Given the description of an element on the screen output the (x, y) to click on. 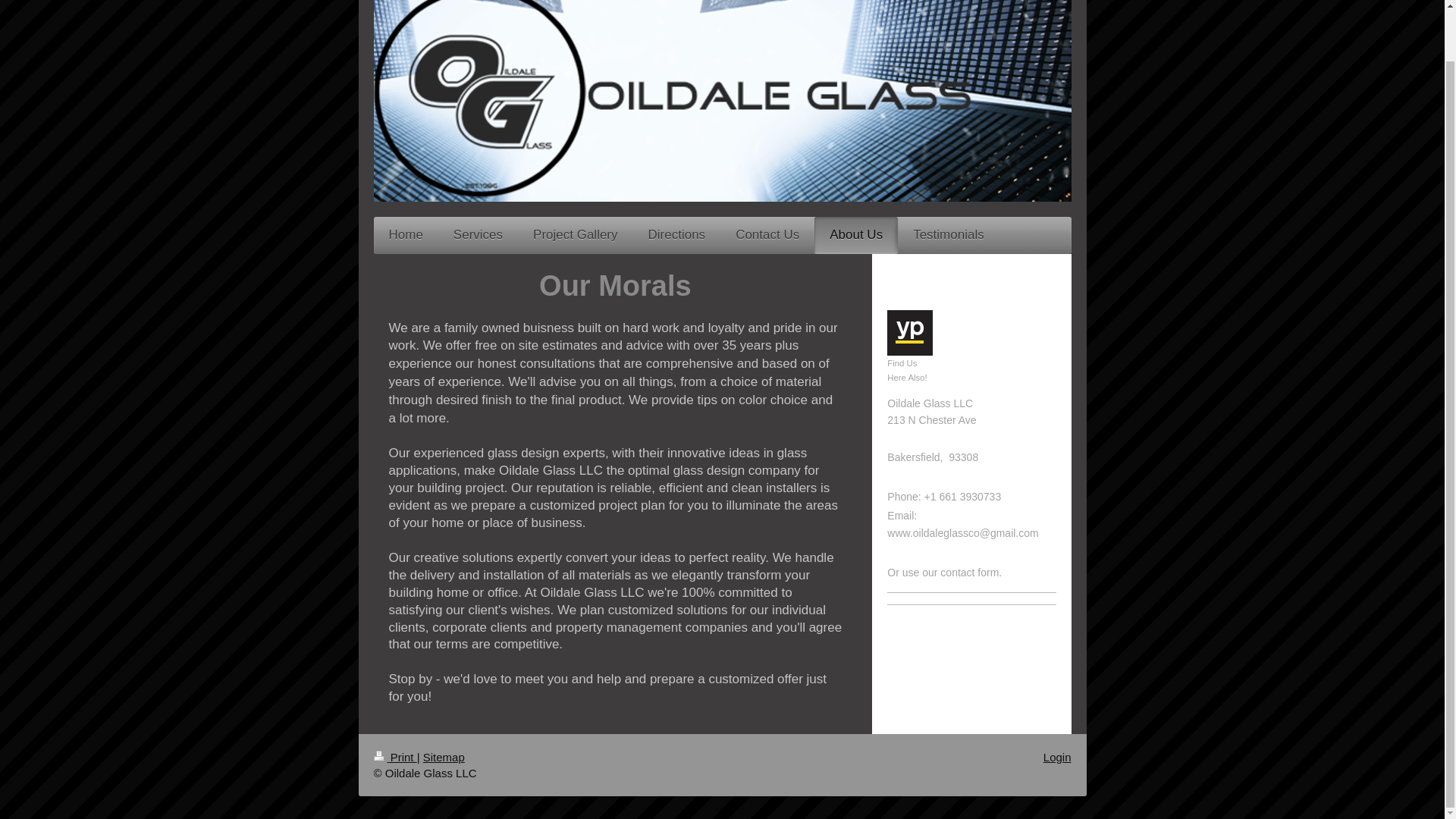
Testimonials (948, 235)
About Us (855, 235)
Services (478, 235)
Login (1057, 757)
Project Gallery (574, 235)
Directions (676, 235)
Contact Us (766, 235)
Print (394, 757)
Home (405, 235)
Sitemap (443, 757)
